Given the description of an element on the screen output the (x, y) to click on. 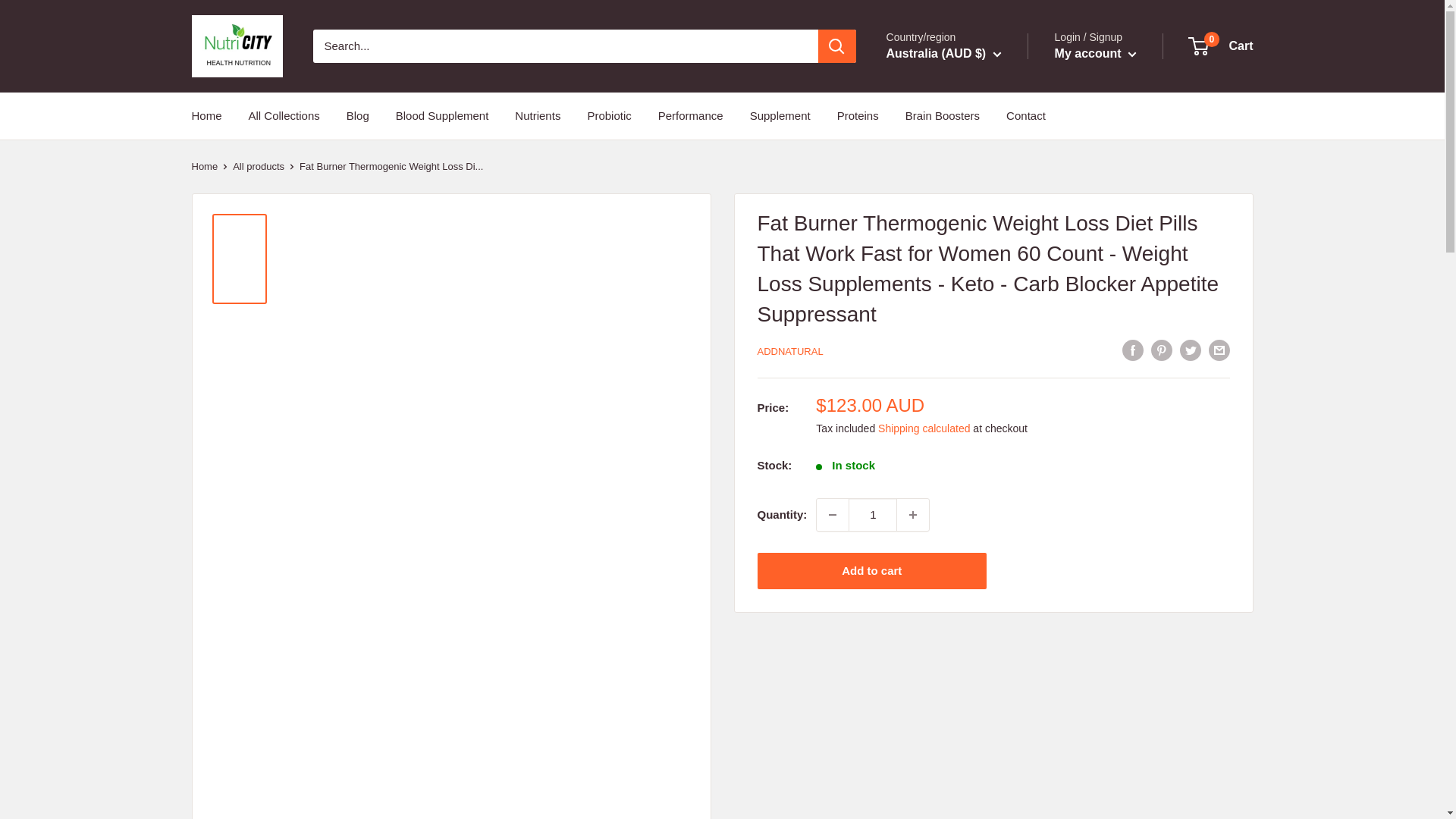
IT (923, 364)
FI (923, 233)
nutricity.com.au (236, 45)
CA (923, 168)
1 (872, 514)
PL (923, 495)
AU (923, 102)
AT (923, 124)
HK (923, 299)
Decrease quantity by 1 (832, 514)
